Given the description of an element on the screen output the (x, y) to click on. 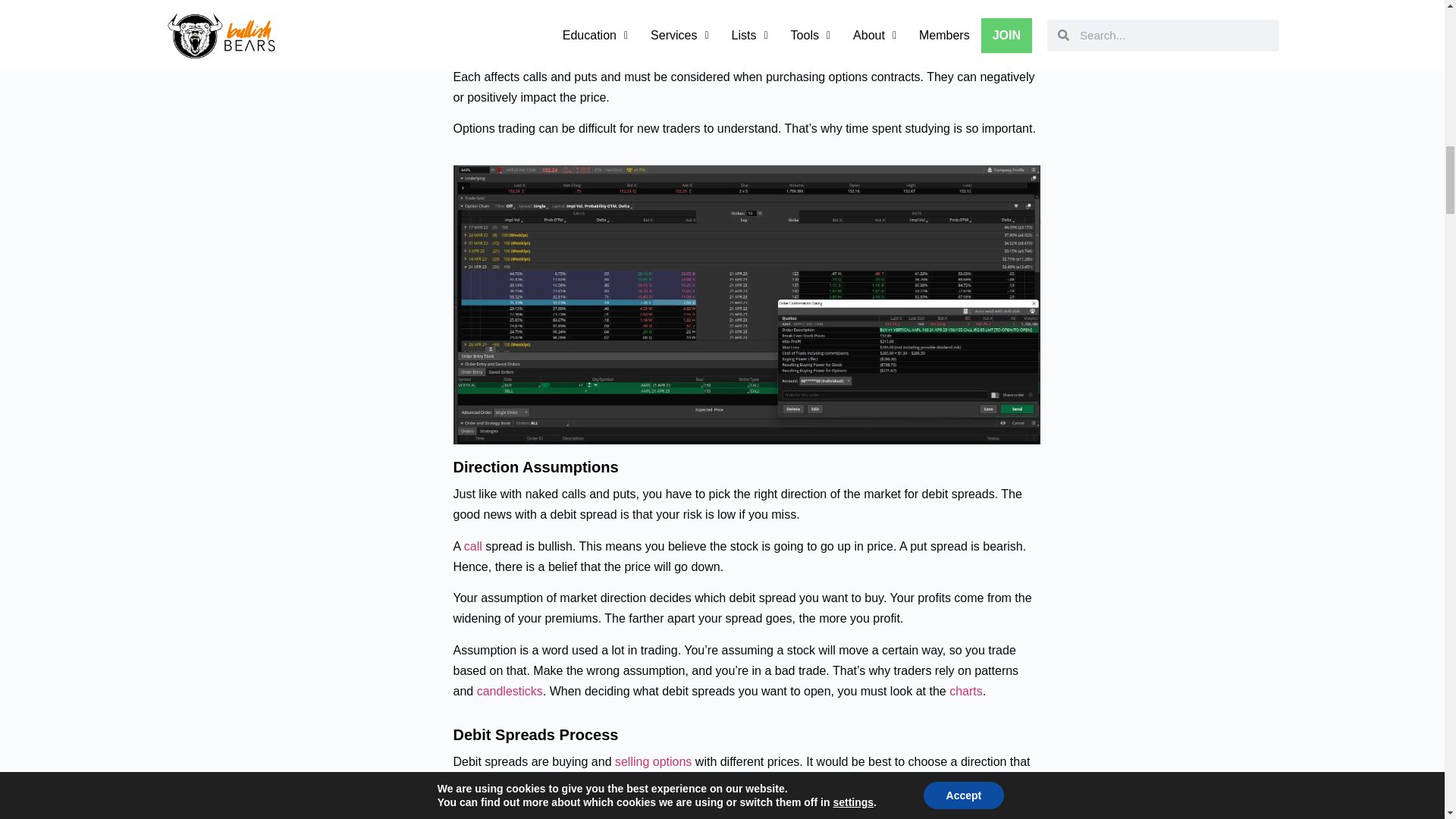
selling options (652, 761)
time decay (706, 45)
